Given the description of an element on the screen output the (x, y) to click on. 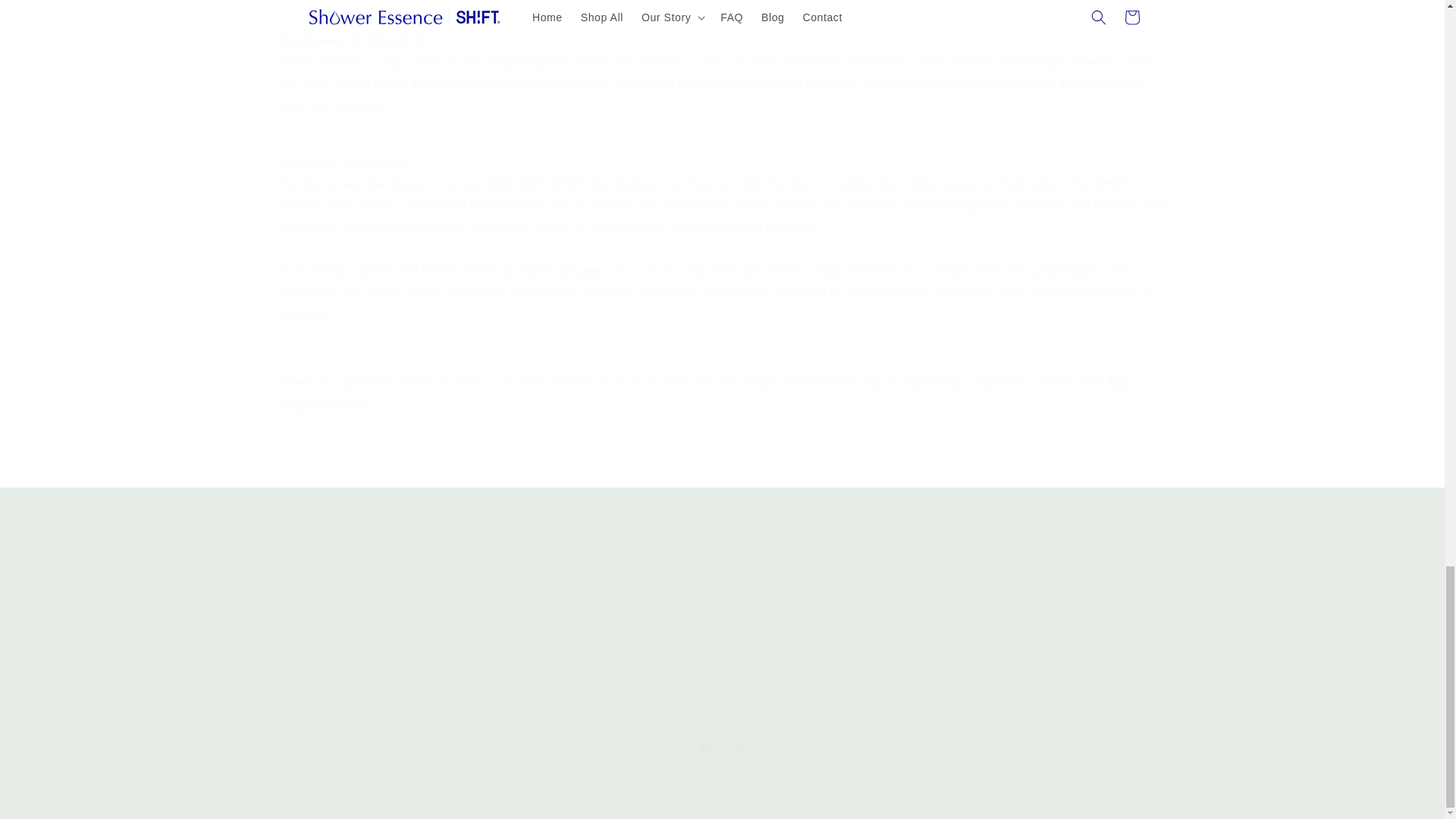
Full collection here (705, 393)
Service Area (547, 710)
Contact (534, 683)
Home (826, 641)
Instagram (530, 605)
Back to blog (617, 641)
Back to blog (738, 748)
